Given the description of an element on the screen output the (x, y) to click on. 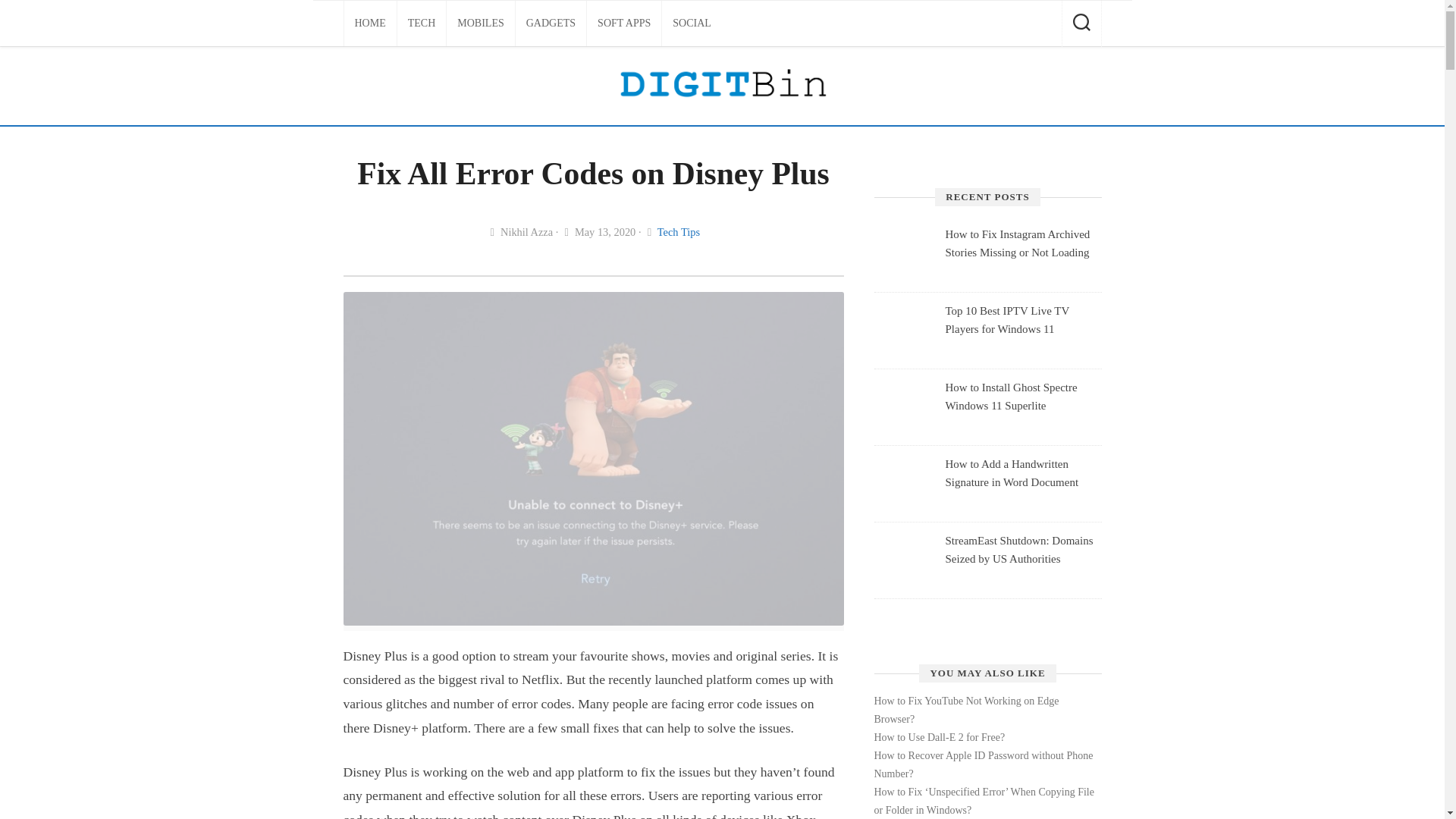
MOBILES (480, 23)
SOCIAL (691, 23)
HOME (370, 23)
GADGETS (550, 23)
Tech Tips (679, 232)
SOFT APPS (623, 23)
TECH (421, 23)
